Given the description of an element on the screen output the (x, y) to click on. 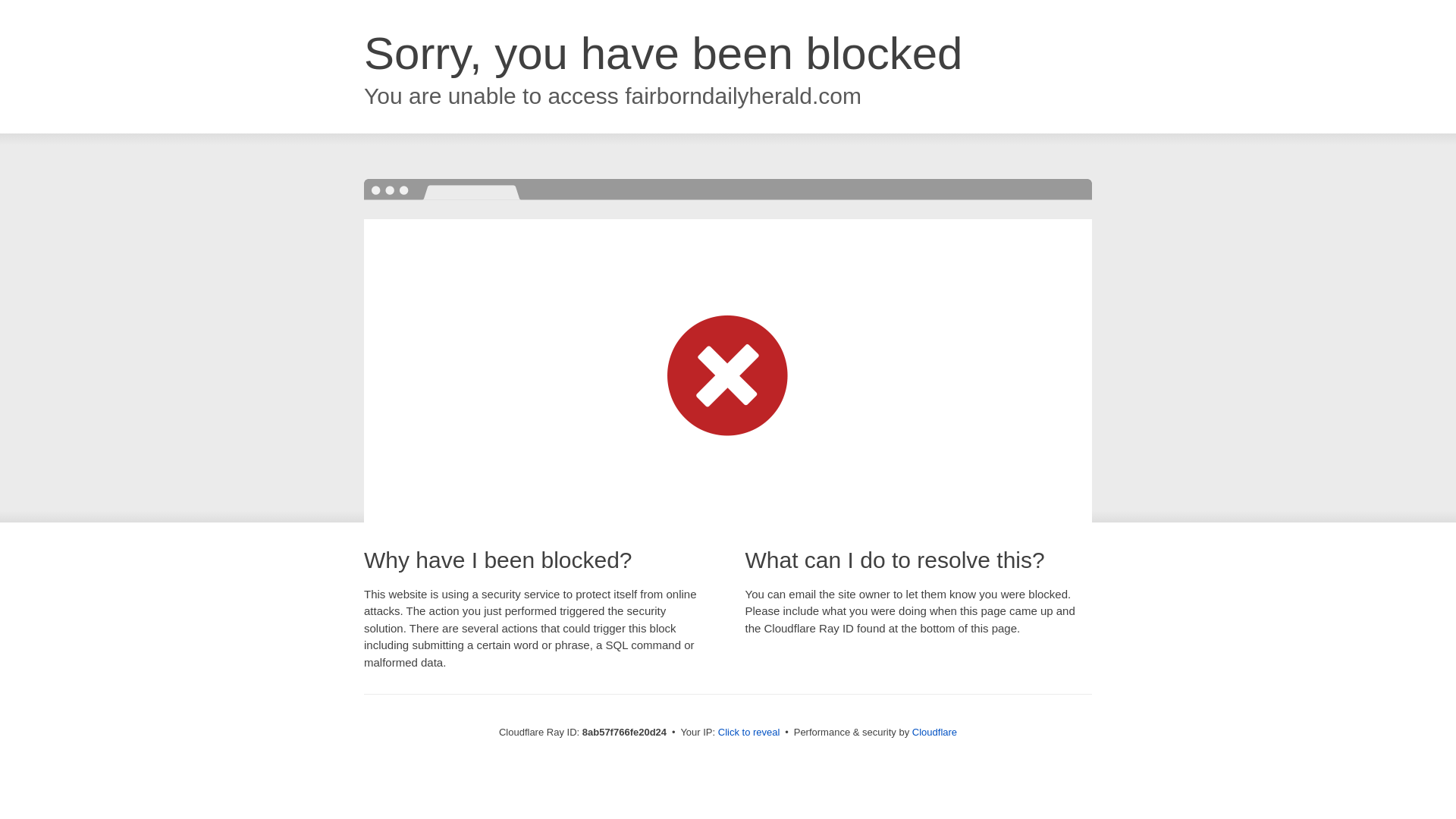
Click to reveal (748, 732)
Cloudflare (934, 731)
